Given the description of an element on the screen output the (x, y) to click on. 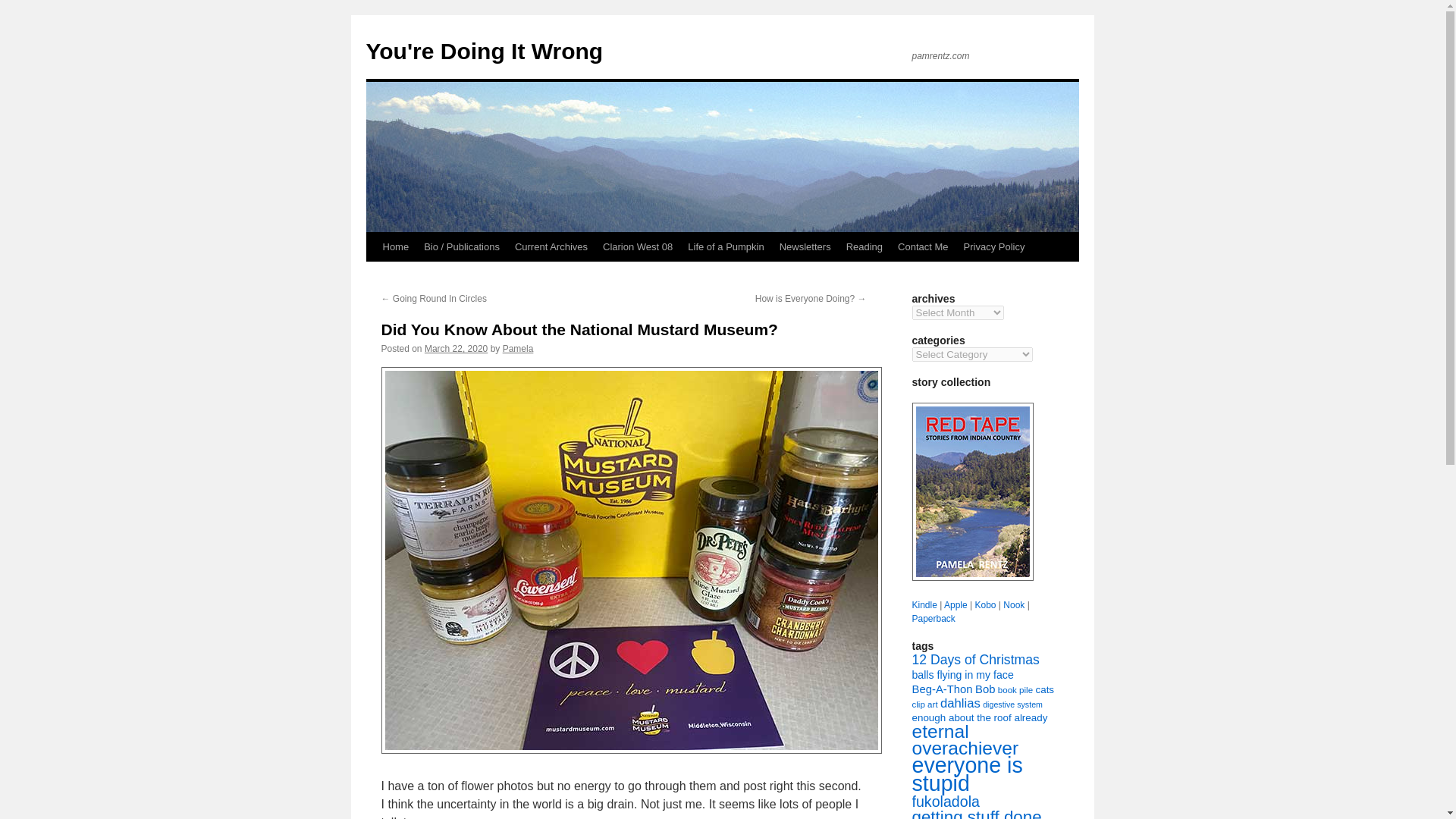
book pile (1014, 689)
Home (395, 246)
Nook (1014, 604)
balls flying in my face (962, 674)
You're Doing It Wrong (483, 50)
Reading (863, 246)
Life of a Pumpkin (725, 246)
clip art (924, 704)
enough about the roof already (978, 717)
